Given the description of an element on the screen output the (x, y) to click on. 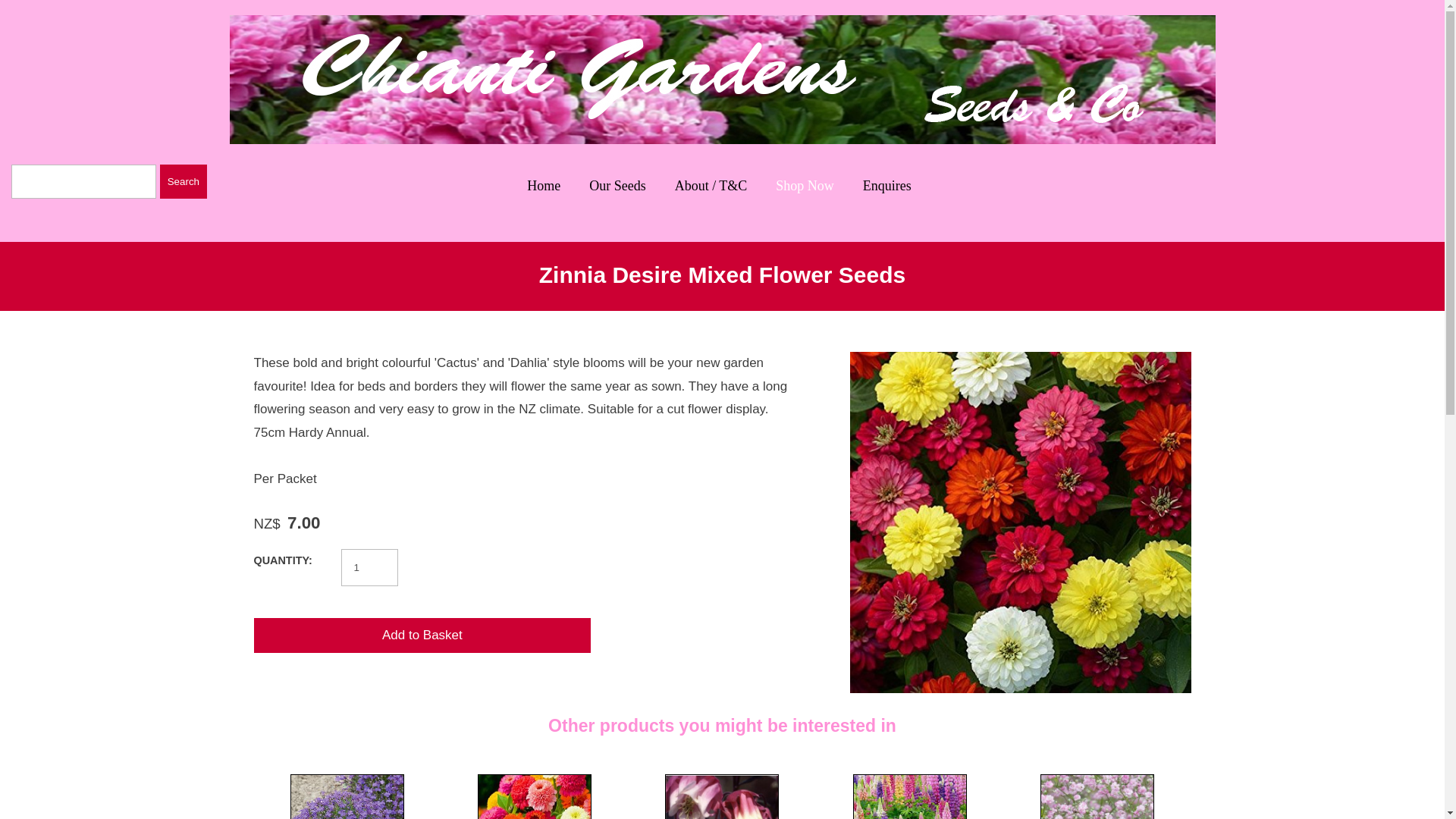
Shop Now (804, 185)
Our Seeds (617, 185)
Home (543, 185)
Search (183, 181)
Zinnia Desire Mixed Flower Seeds (1019, 688)
1 (368, 567)
Search (183, 181)
Search (183, 181)
Add to Basket (422, 635)
